Given the description of an element on the screen output the (x, y) to click on. 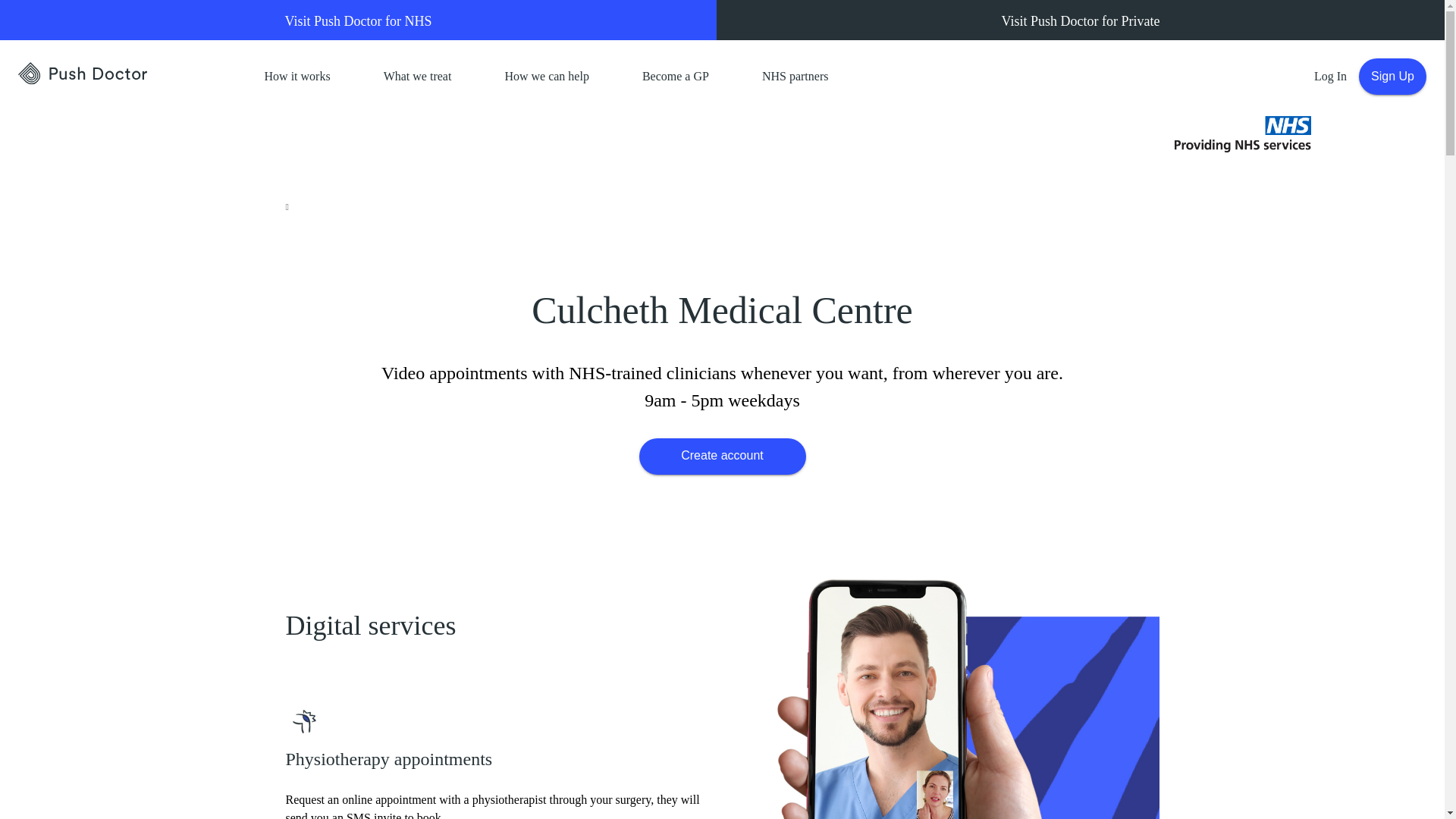
Learn how to become a GP at PushDoctor (675, 75)
Push Doctor (123, 73)
How Push Doctor works (297, 75)
How it works (297, 75)
Learn about how we can help (546, 75)
What we treat (417, 75)
Learn about NHS partners (794, 75)
Learn about what we can treat (417, 75)
Visit Push Doctor for NHS (358, 20)
